Given the description of an element on the screen output the (x, y) to click on. 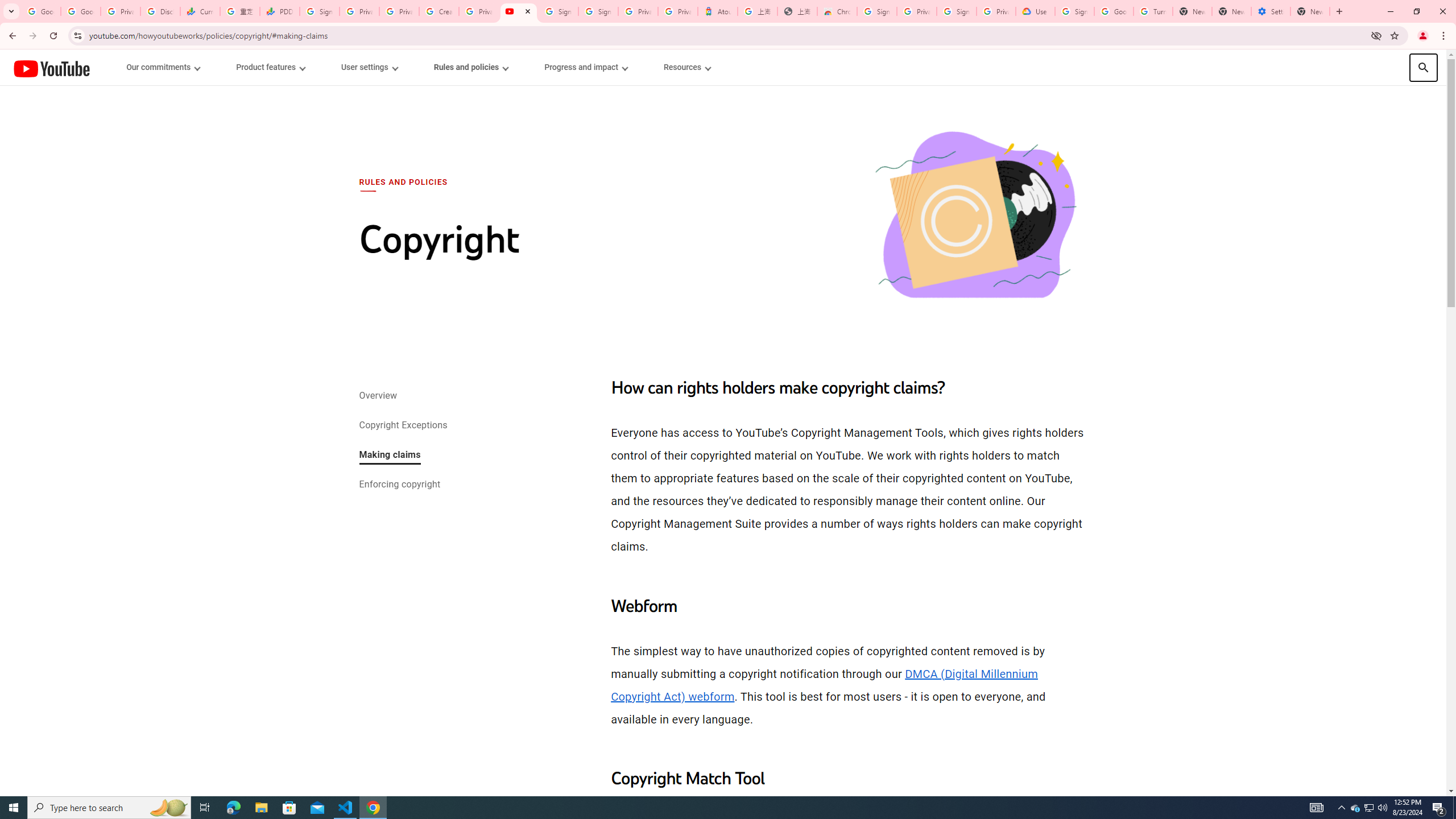
Sign in - Google Accounts (557, 11)
Copyright (974, 216)
Resources menupopup (686, 67)
New Tab (1310, 11)
PDD Holdings Inc - ADR (PDD) Price & News - Google Finance (279, 11)
YouTube (51, 68)
